Given the description of an element on the screen output the (x, y) to click on. 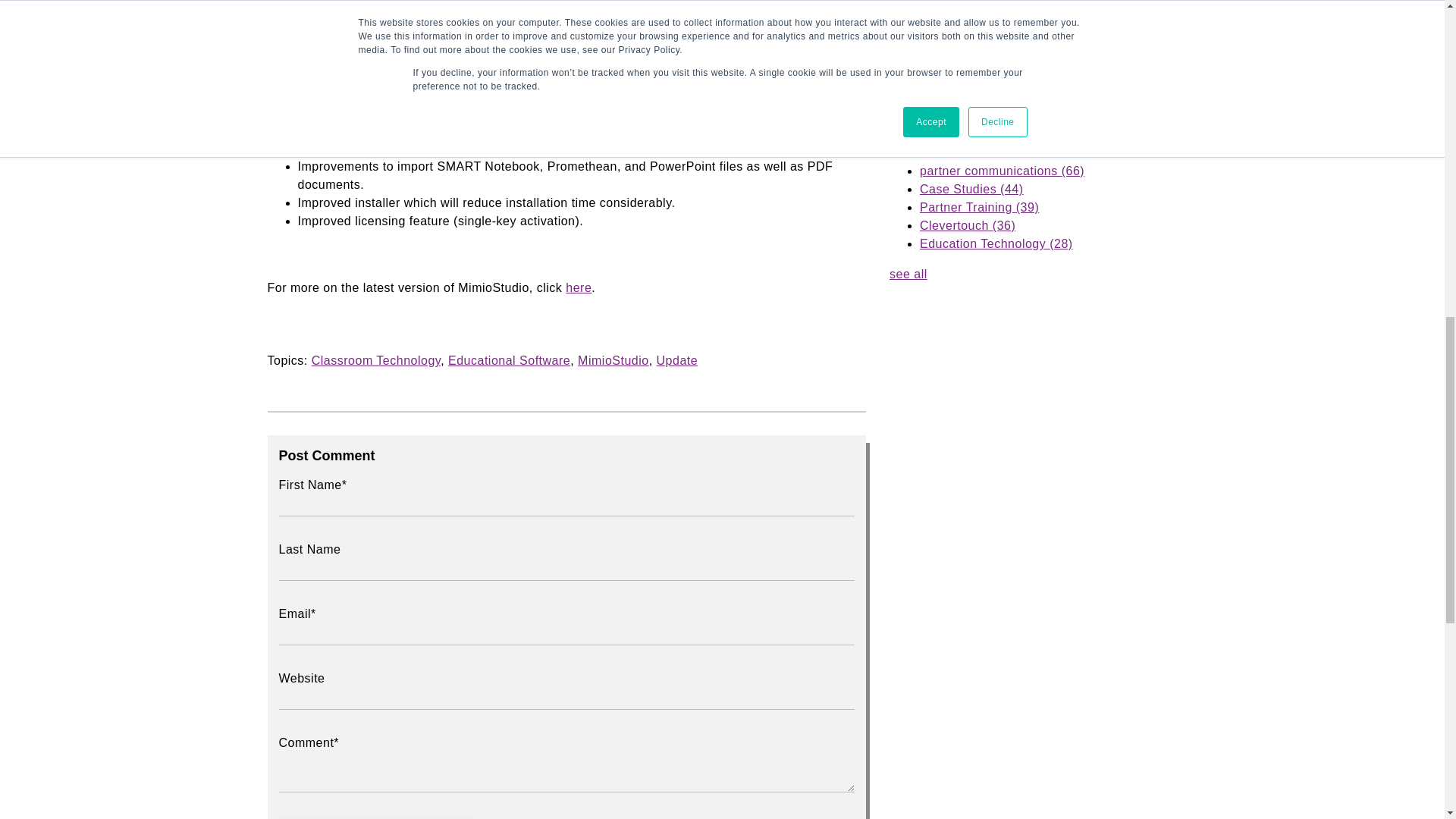
Educational Software (509, 359)
MimioStudio (613, 359)
Update (677, 359)
Boxlight Partner News: New Price Sheets Released (1038, 57)
Classroom Technology (376, 359)
here (578, 287)
